Given the description of an element on the screen output the (x, y) to click on. 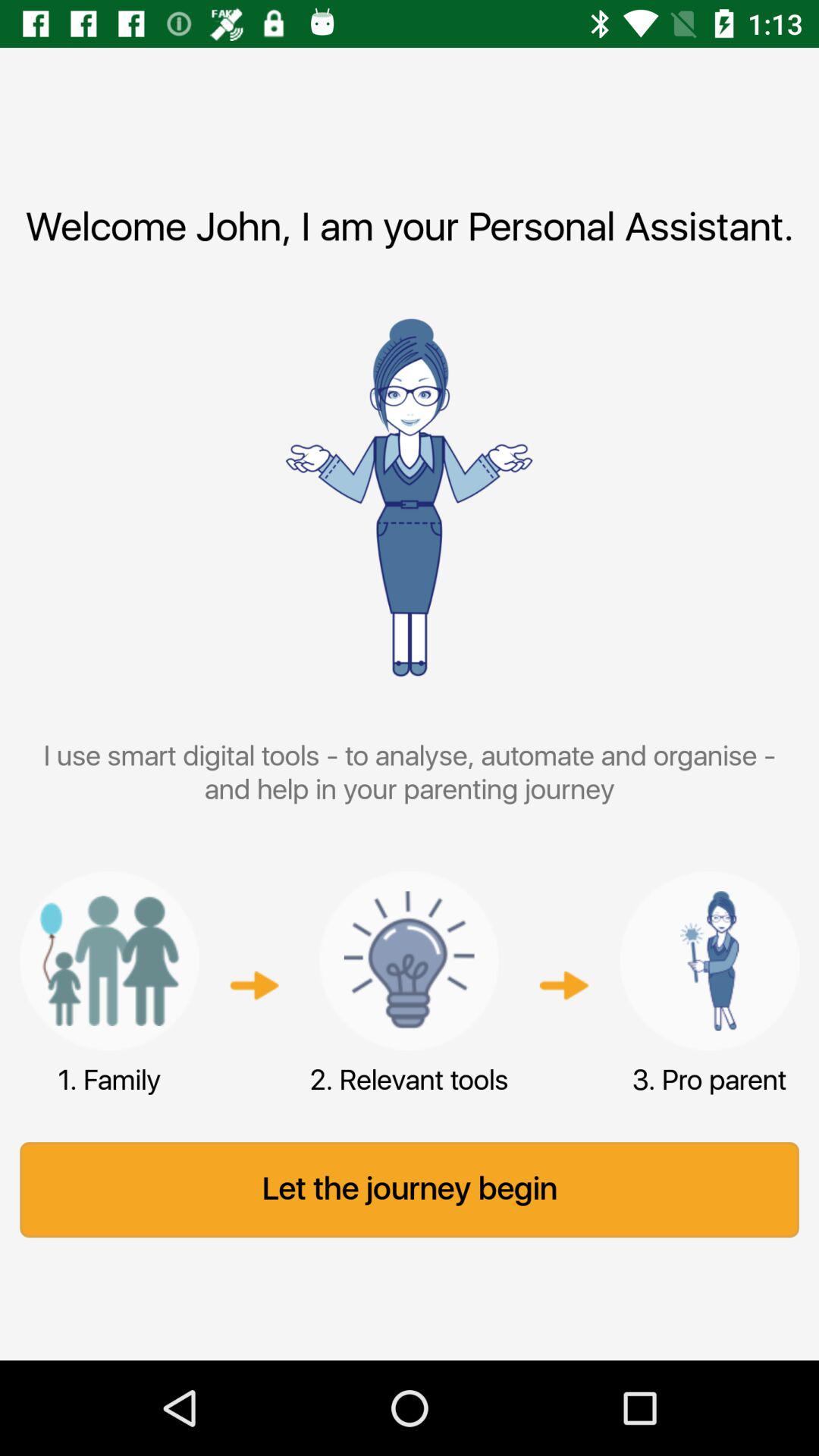
choose the let the journey (409, 1189)
